Given the description of an element on the screen output the (x, y) to click on. 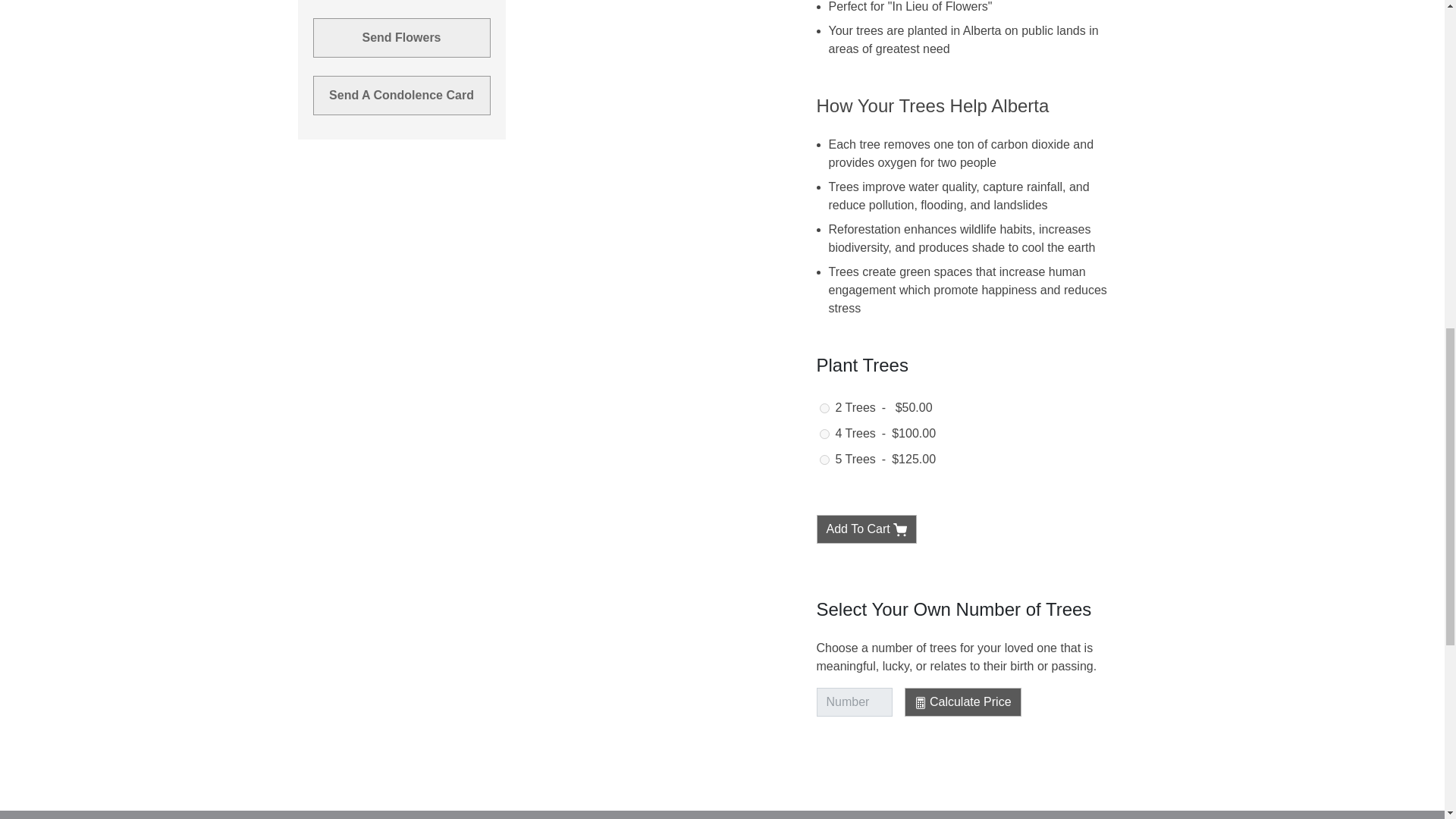
2 (823, 408)
4 (823, 433)
5 (823, 460)
